Given the description of an element on the screen output the (x, y) to click on. 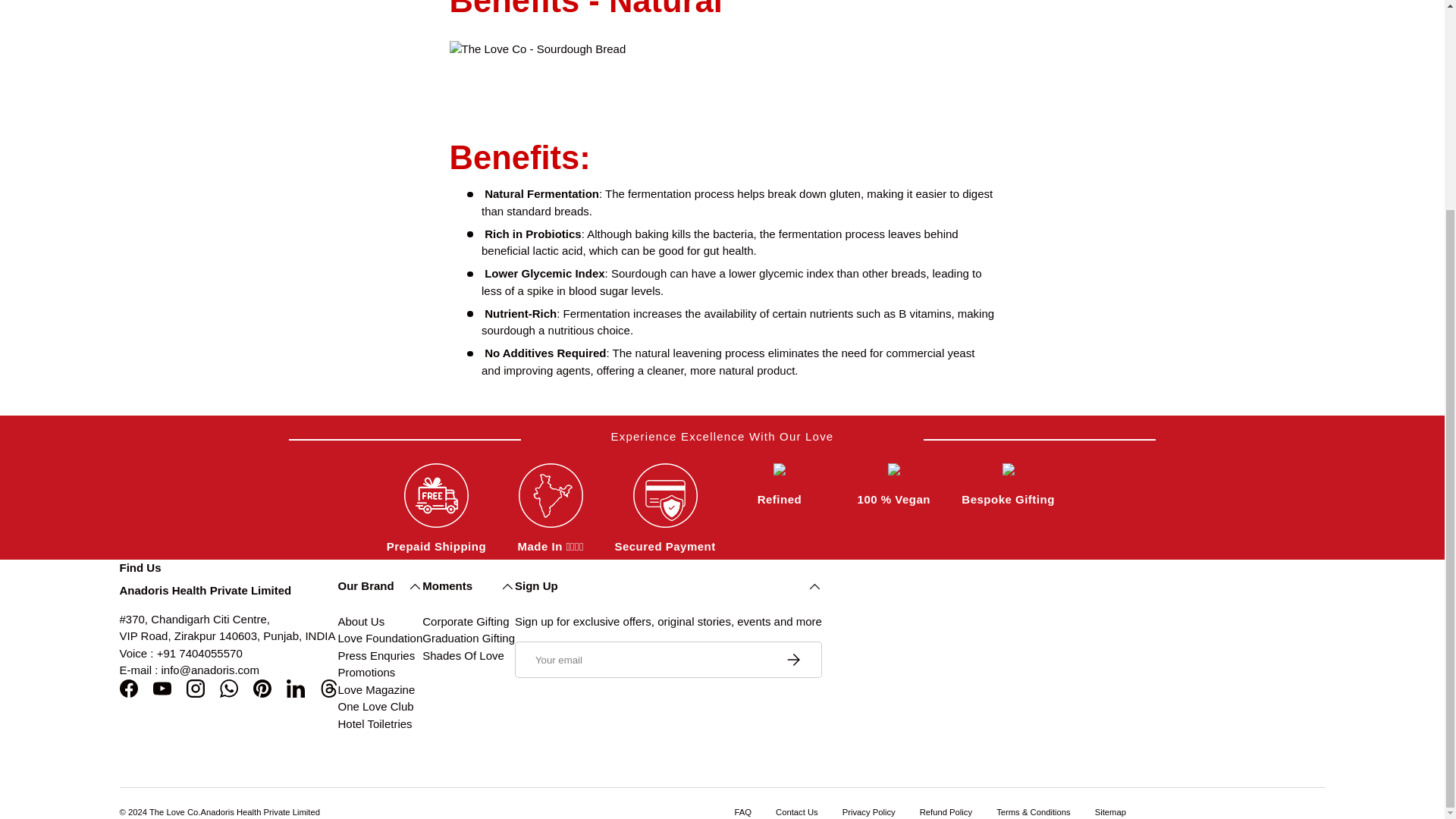
The Love Co on WhatsApp (229, 688)
The Love Co on Pinterest (262, 688)
The Love Co on LinkedIn (296, 688)
The Love Co on Instagram (195, 688)
The Love Co on Threads (329, 688)
The Love Co on YouTube (162, 688)
The Love Co on Facebook (128, 688)
